Given the description of an element on the screen output the (x, y) to click on. 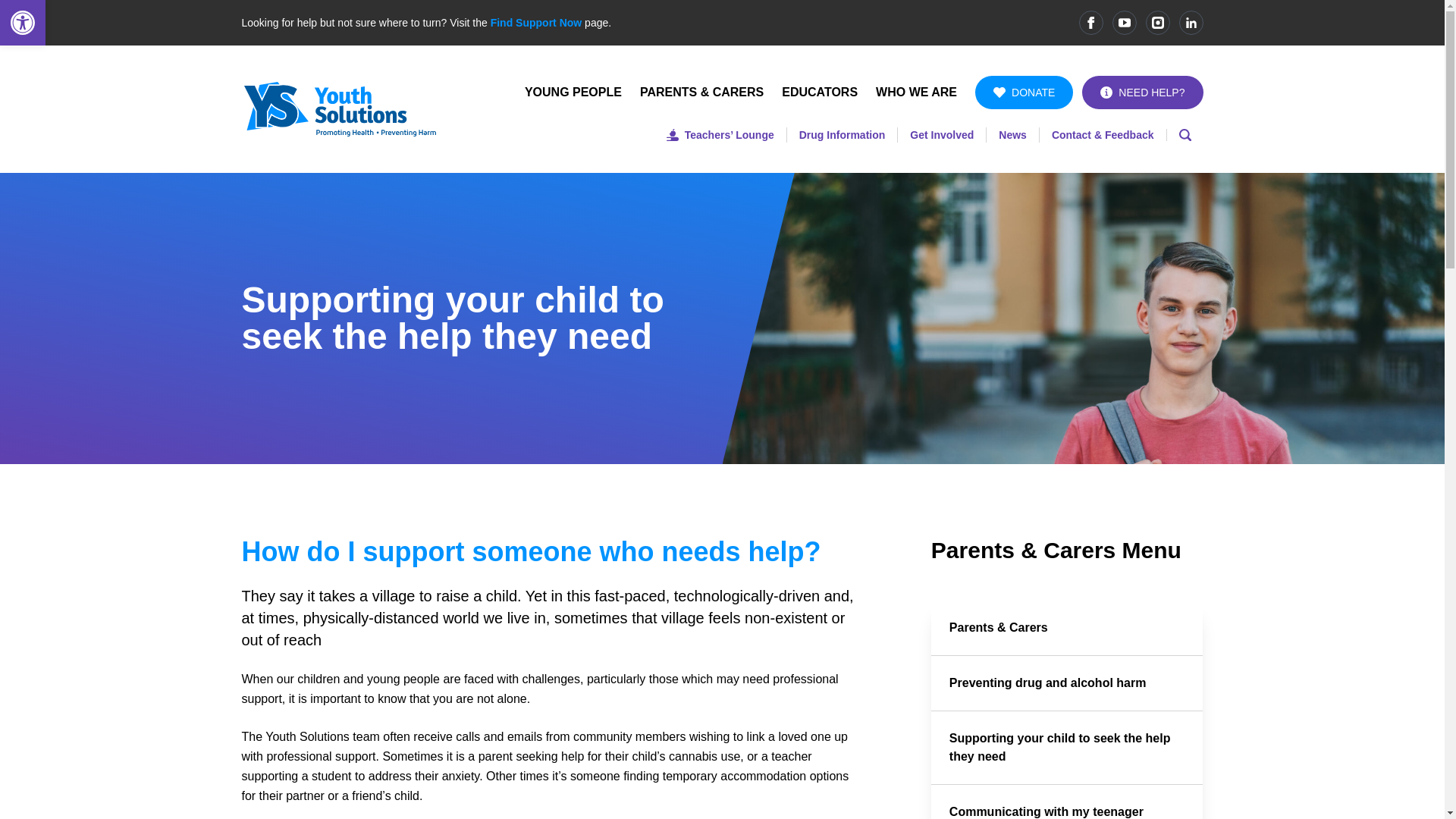
Find Support Now (536, 22)
News (1012, 134)
Accessibility Tools (22, 22)
NEED HELP? (1141, 92)
Get Involved (942, 134)
Open toolbar (22, 22)
DONATE (1024, 92)
YOUNG PEOPLE (572, 91)
WHO WE ARE (916, 91)
Drug Information (842, 134)
EDUCATORS (819, 91)
